Given the description of an element on the screen output the (x, y) to click on. 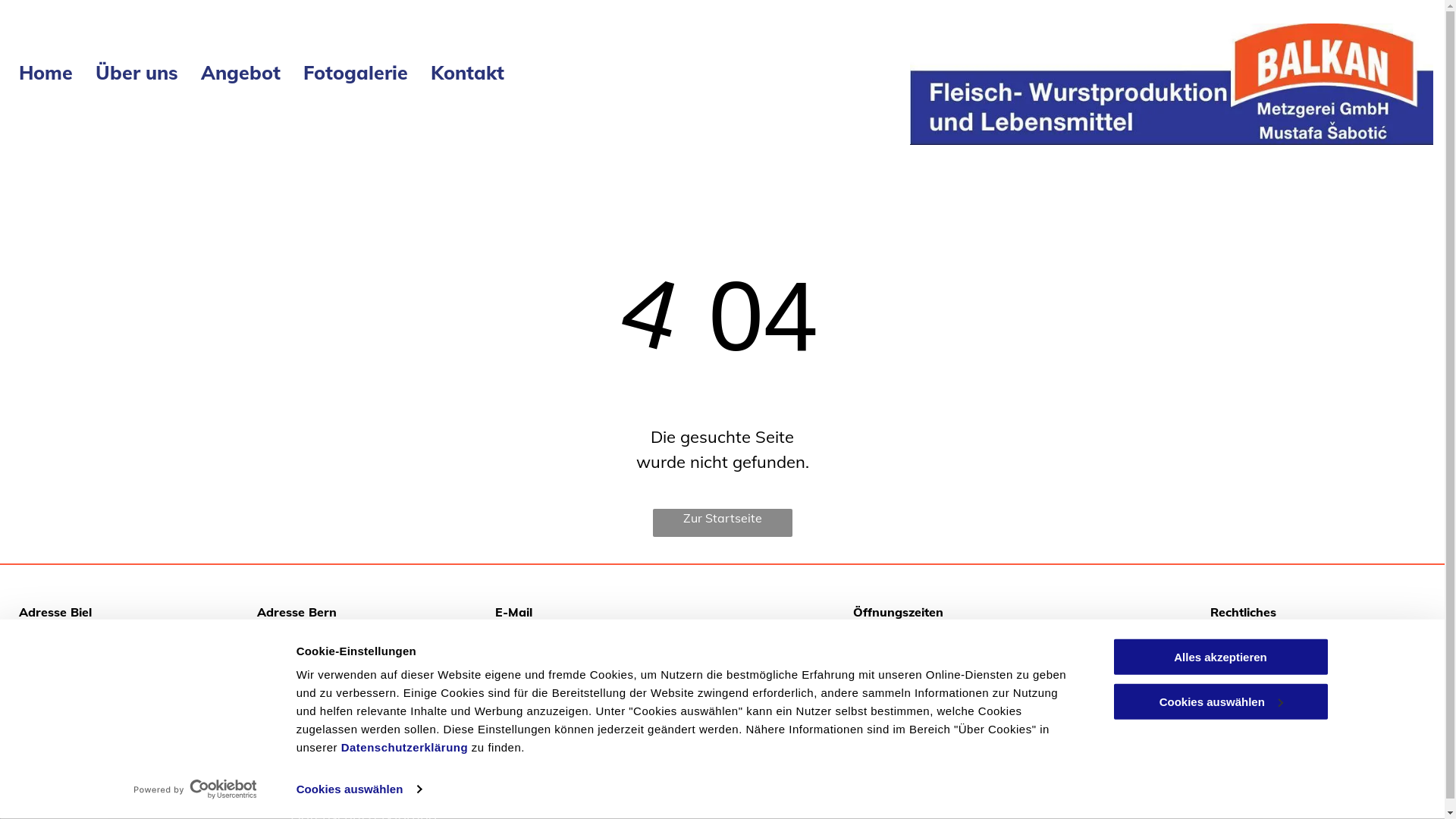
Fotogalerie Element type: text (355, 71)
Angebot Element type: text (240, 71)
032 341 71 65 Element type: text (60, 726)
balkan-metzgerei@bluewin.ch Element type: text (581, 631)
Alles akzeptieren Element type: text (1219, 656)
Impressum Element type: text (1241, 631)
Zur Startseite Element type: text (721, 522)
Kontakt Element type: text (467, 71)
031 991 60 77 Element type: text (299, 726)
Home Element type: text (45, 71)
